Given the description of an element on the screen output the (x, y) to click on. 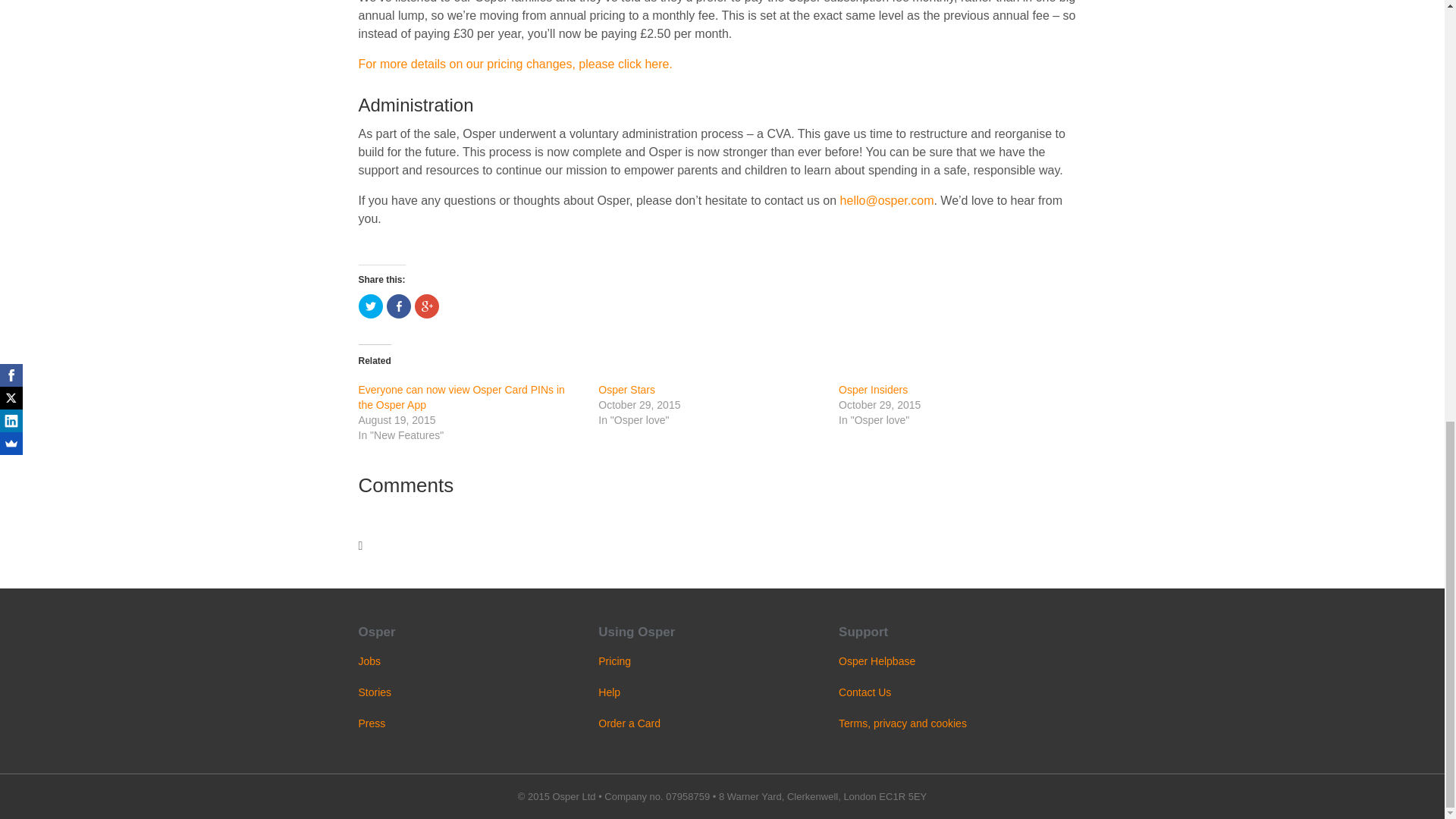
Terms, privacy and cookies (902, 723)
Osper Insiders (872, 389)
Pricing (614, 661)
Order a Card (629, 723)
Contact Us (864, 692)
Share on Facebook (398, 306)
Osper Helpbase (876, 661)
Help (609, 692)
Everyone can now view Osper Card PINs in the Osper App (461, 397)
Jobs (369, 661)
Press (371, 723)
Stories (374, 692)
Click to share on Twitter (369, 306)
Osper Stars (626, 389)
For more details on our pricing changes, please click here. (514, 63)
